Given the description of an element on the screen output the (x, y) to click on. 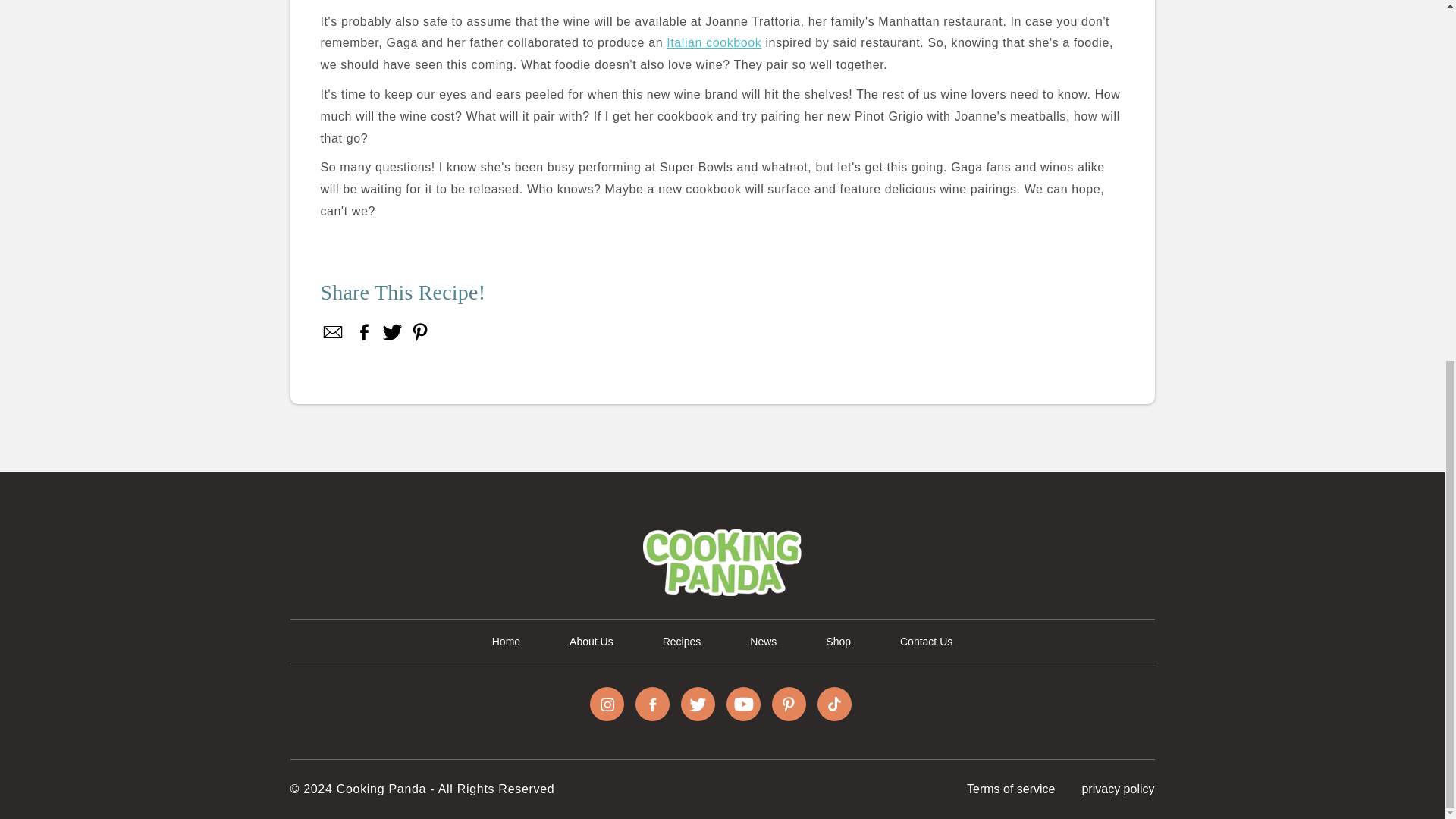
Share by Email (333, 332)
About Us (590, 641)
Home (505, 641)
Recipes (681, 641)
Pinterest (419, 331)
Share on Facebook (363, 331)
Facebook (363, 331)
Tweet on Twitter (392, 331)
Twitter (392, 331)
Share on Facebook (333, 332)
Italian cookbook (713, 42)
Pin on Pinterest (419, 331)
